Given the description of an element on the screen output the (x, y) to click on. 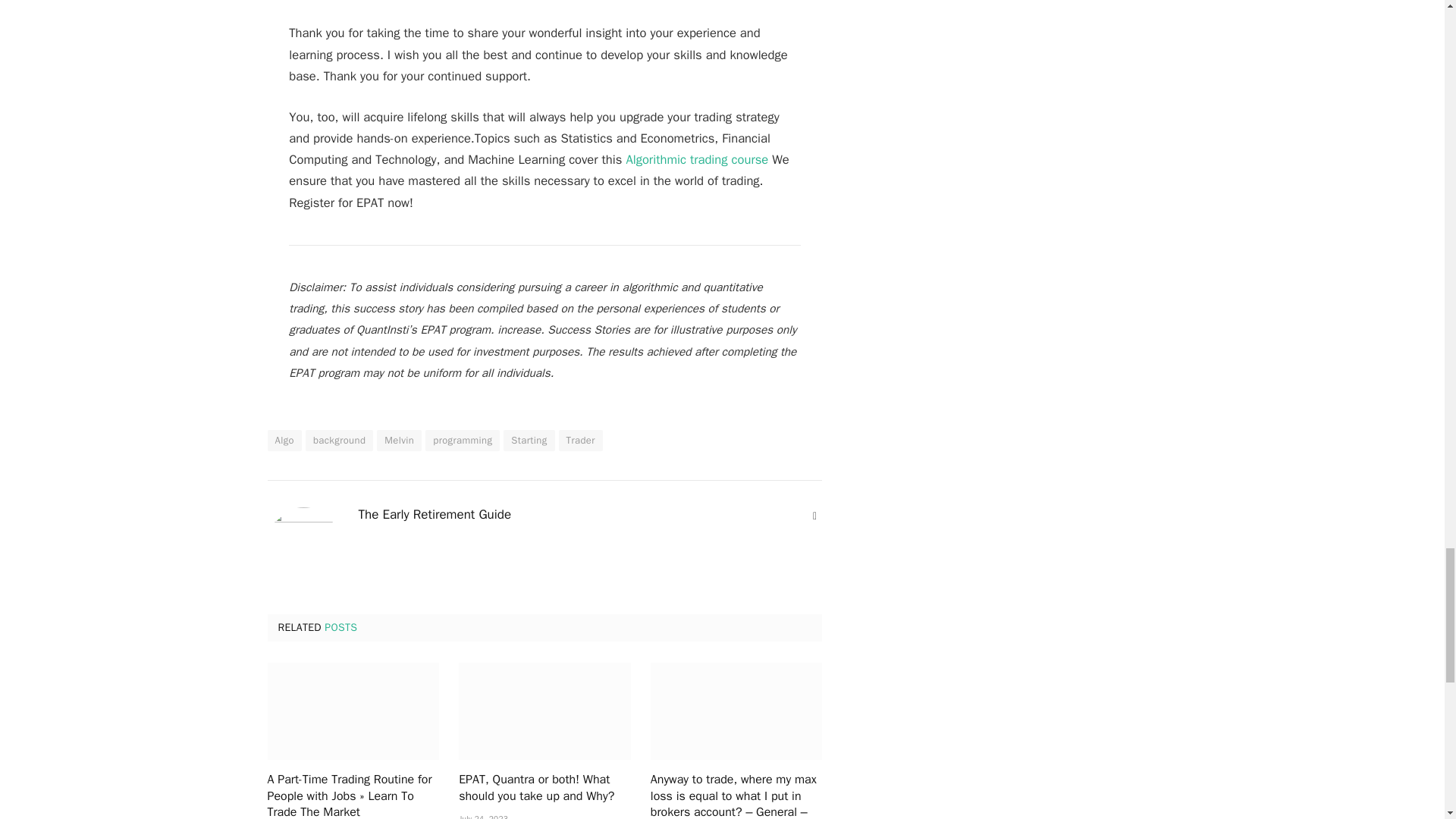
Algorithmic trading course (697, 159)
Website (814, 516)
Posts by The Early Retirement Guide (434, 514)
EPAT, Quantra or both! What should you take up and Why? (544, 710)
Algo (283, 440)
